Given the description of an element on the screen output the (x, y) to click on. 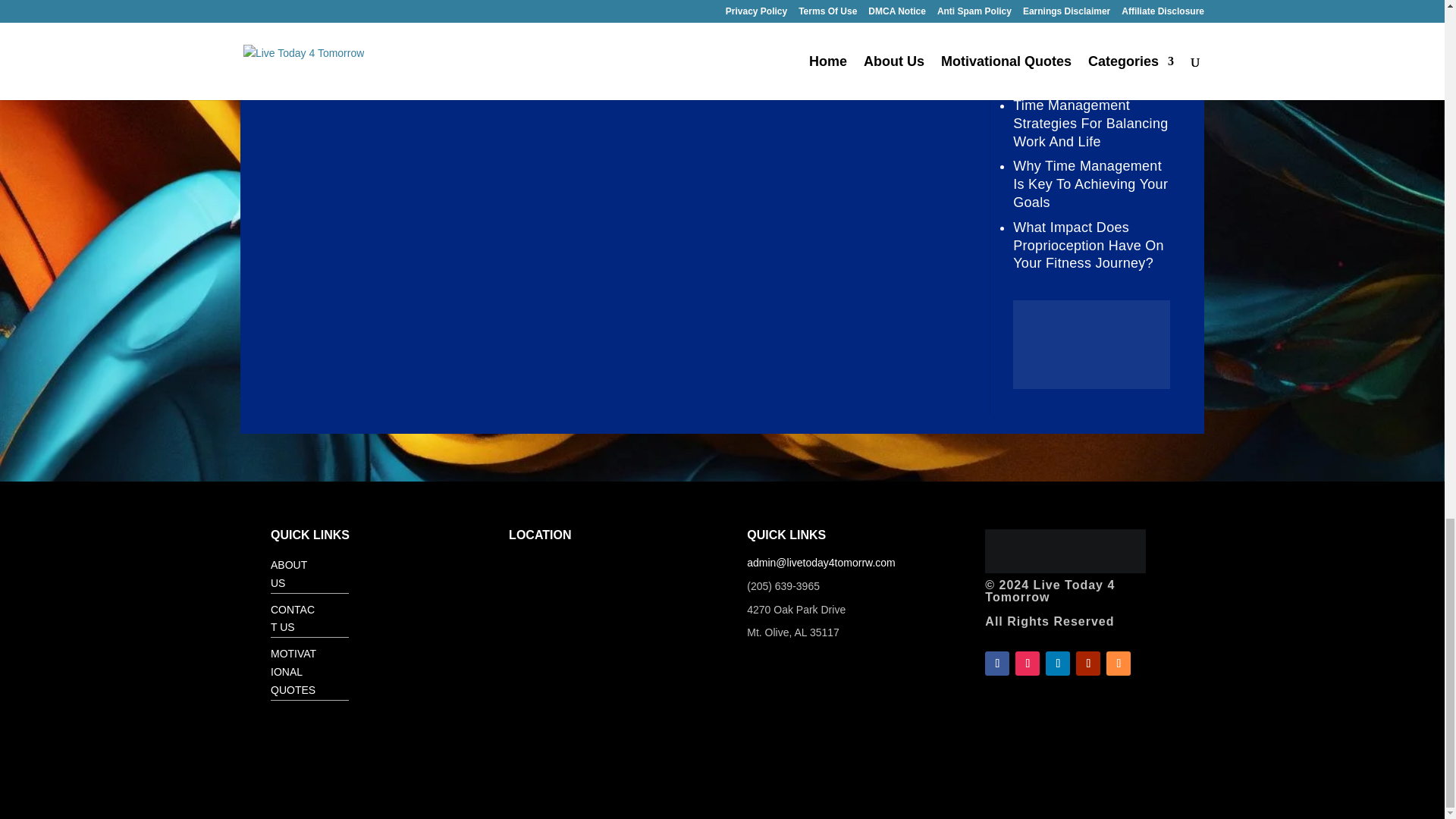
Follow on Facebook (997, 663)
Follow on Youtube (1087, 663)
Follow on RSS (1118, 663)
Follow on LinkedIn (1057, 663)
Follow on Instagram (1026, 663)
